Given the description of an element on the screen output the (x, y) to click on. 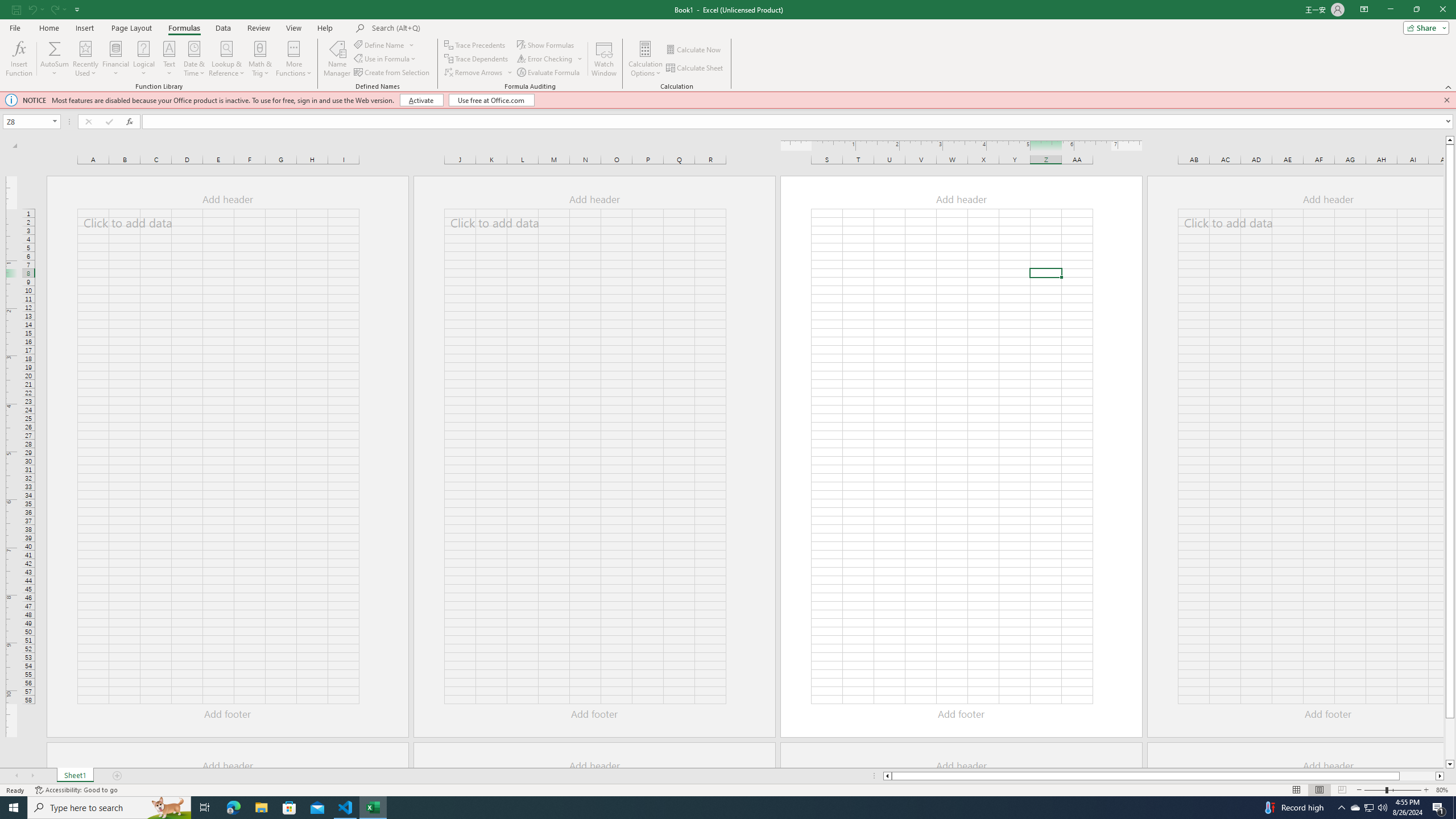
Show Formulas (546, 44)
AutoSum (54, 58)
Remove Arrows (478, 72)
Trace Precedents (475, 44)
